Given the description of an element on the screen output the (x, y) to click on. 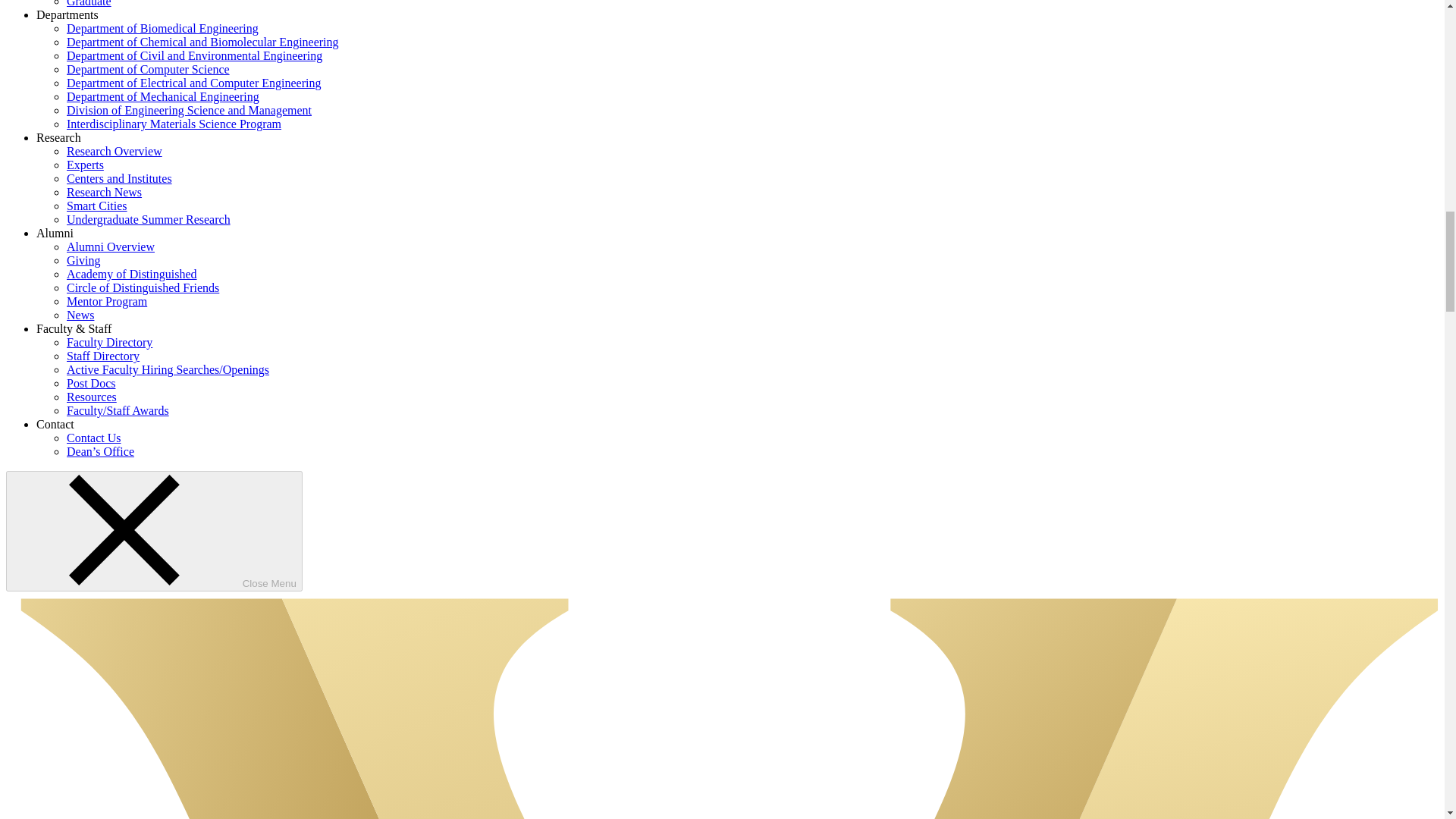
Interdisciplinary Materials Science Program (173, 123)
Department of Biomedical Engineering (162, 28)
Department of Chemical and Biomolecular Engineering (202, 42)
Experts (84, 164)
Academy of Distinguished (131, 273)
Centers and Institutes (118, 178)
Smart Cities (97, 205)
Departments (67, 14)
Department of Mechanical Engineering (162, 96)
Research (58, 137)
Circle of Distinguished Friends (142, 287)
Department of Civil and Environmental Engineering (193, 55)
Graduate (89, 3)
Alumni Overview (110, 246)
Department of Electrical and Computer Engineering (193, 82)
